Given the description of an element on the screen output the (x, y) to click on. 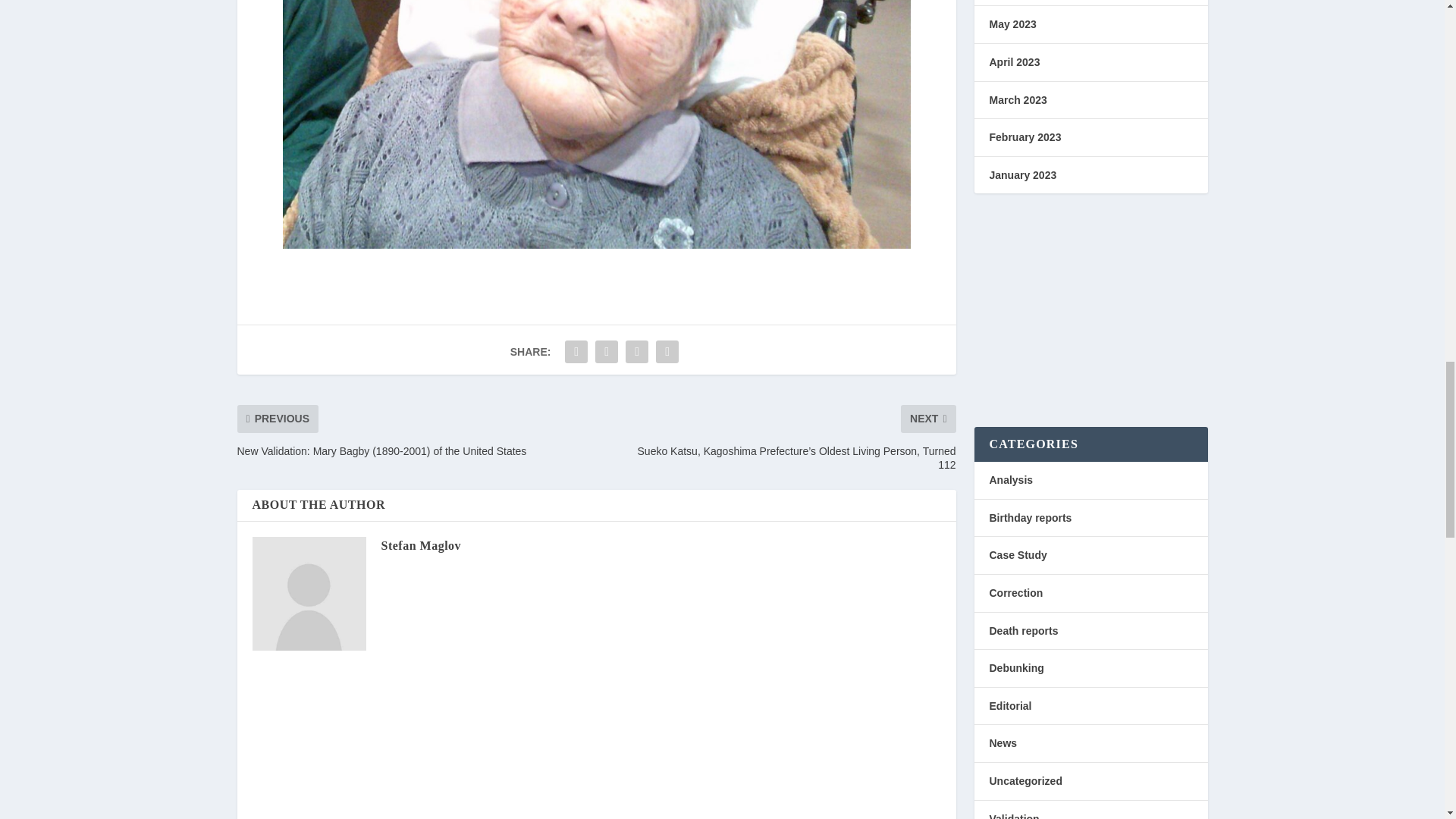
Advertisement (1090, 313)
View all posts by Stefan Maglov (420, 545)
